Given the description of an element on the screen output the (x, y) to click on. 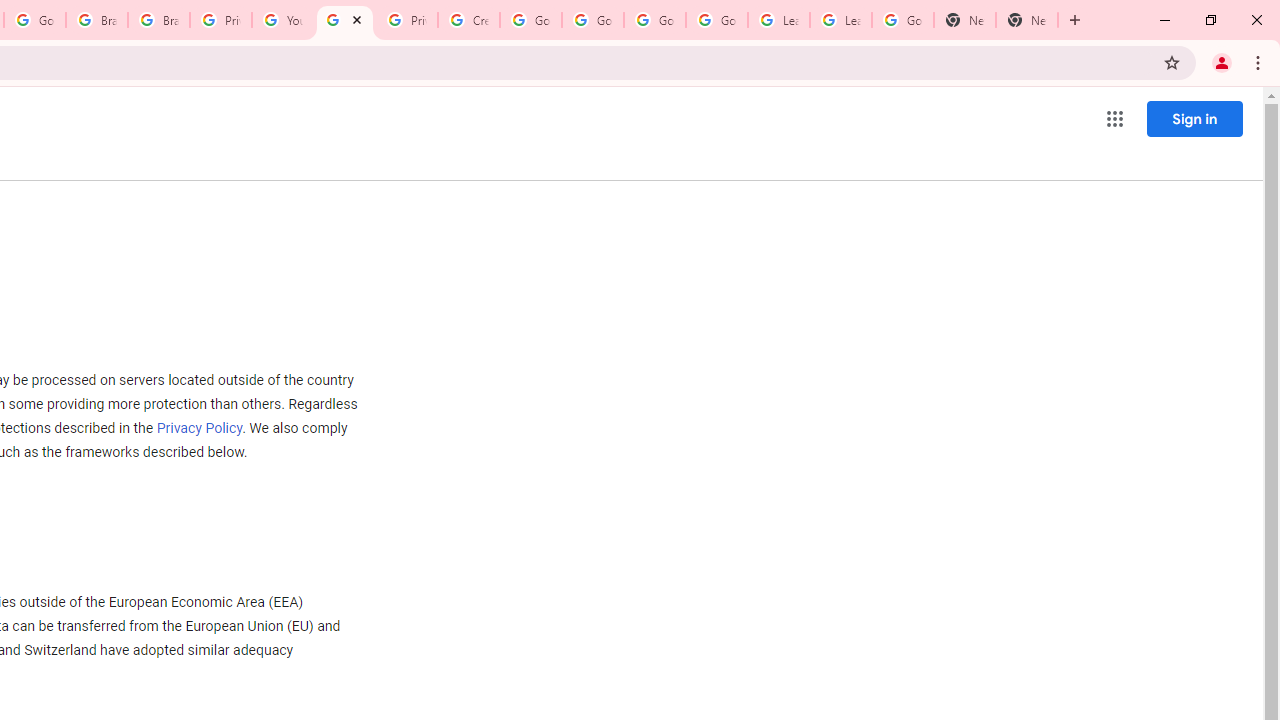
Google Account Help (654, 20)
Google Account Help (530, 20)
YouTube (282, 20)
Google Account Help (716, 20)
Google Account (902, 20)
